Given the description of an element on the screen output the (x, y) to click on. 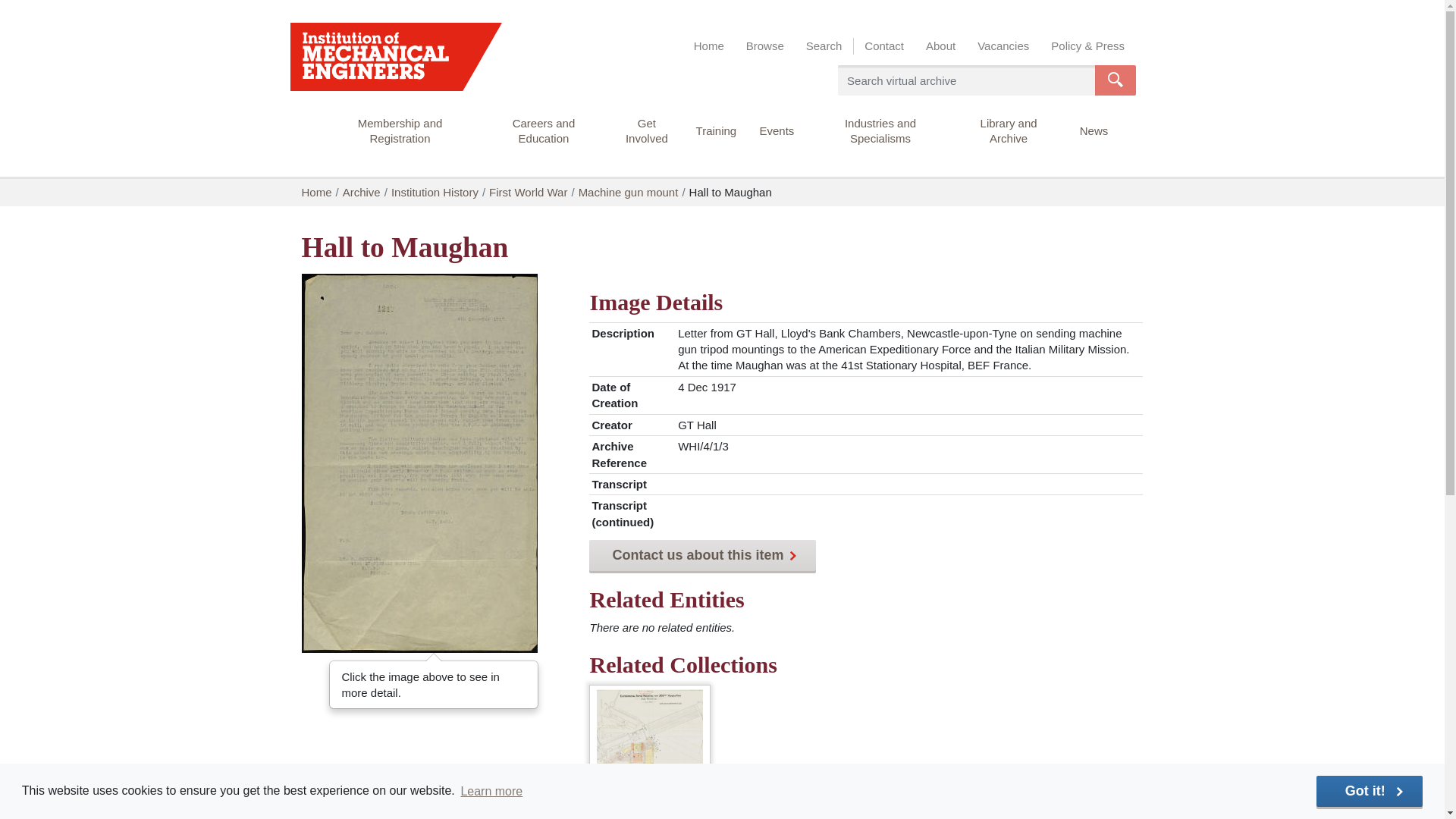
Browse (764, 45)
Got it! (1369, 790)
About (940, 45)
Learn more (491, 790)
Vacancies (1003, 45)
Search (823, 45)
Membership and Registration (399, 137)
Careers and Education (544, 137)
Get Involved (646, 137)
Home (708, 45)
Contact (884, 45)
Machine gun mount (649, 742)
